Given the description of an element on the screen output the (x, y) to click on. 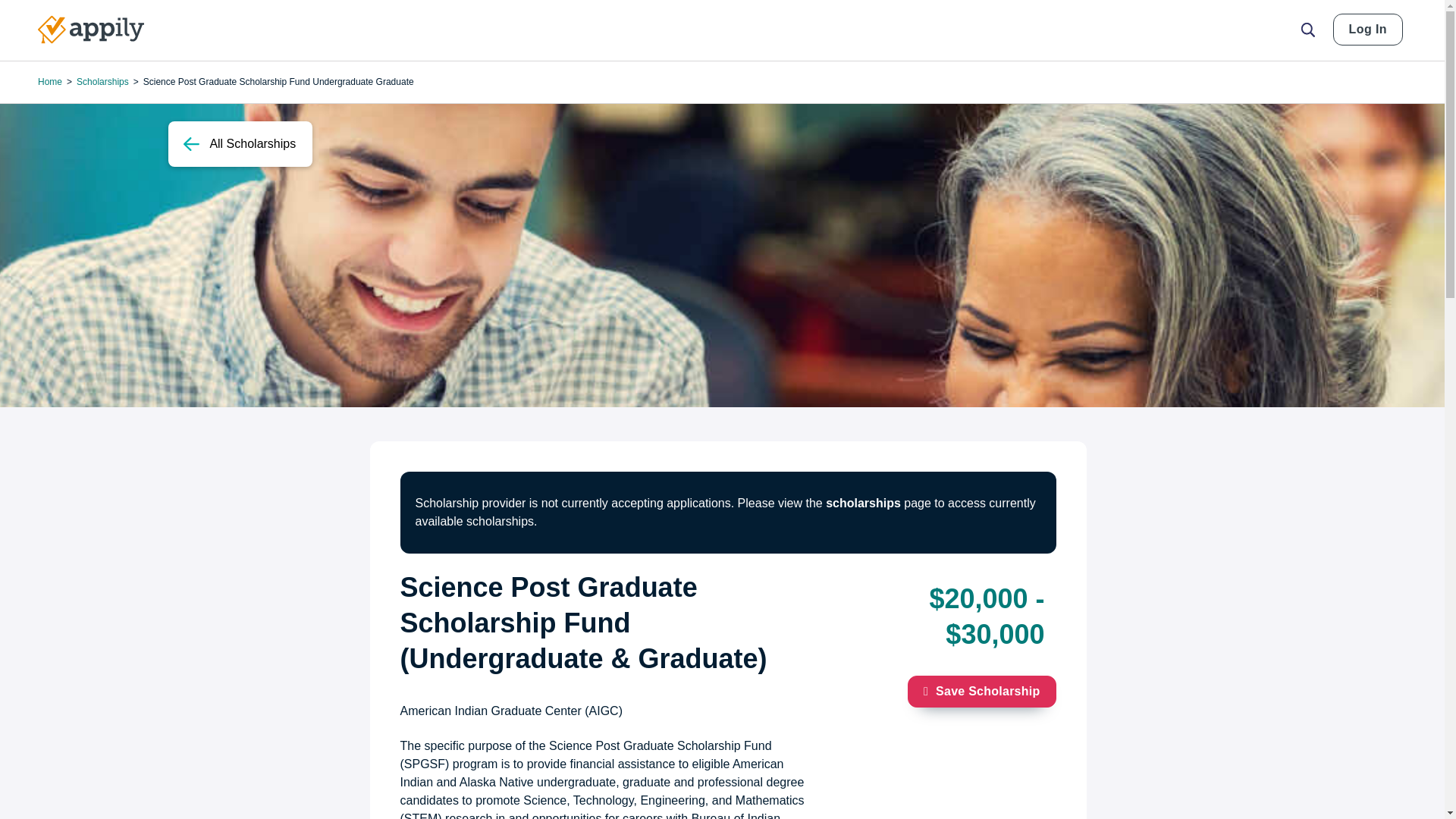
Home (90, 29)
